Given the description of an element on the screen output the (x, y) to click on. 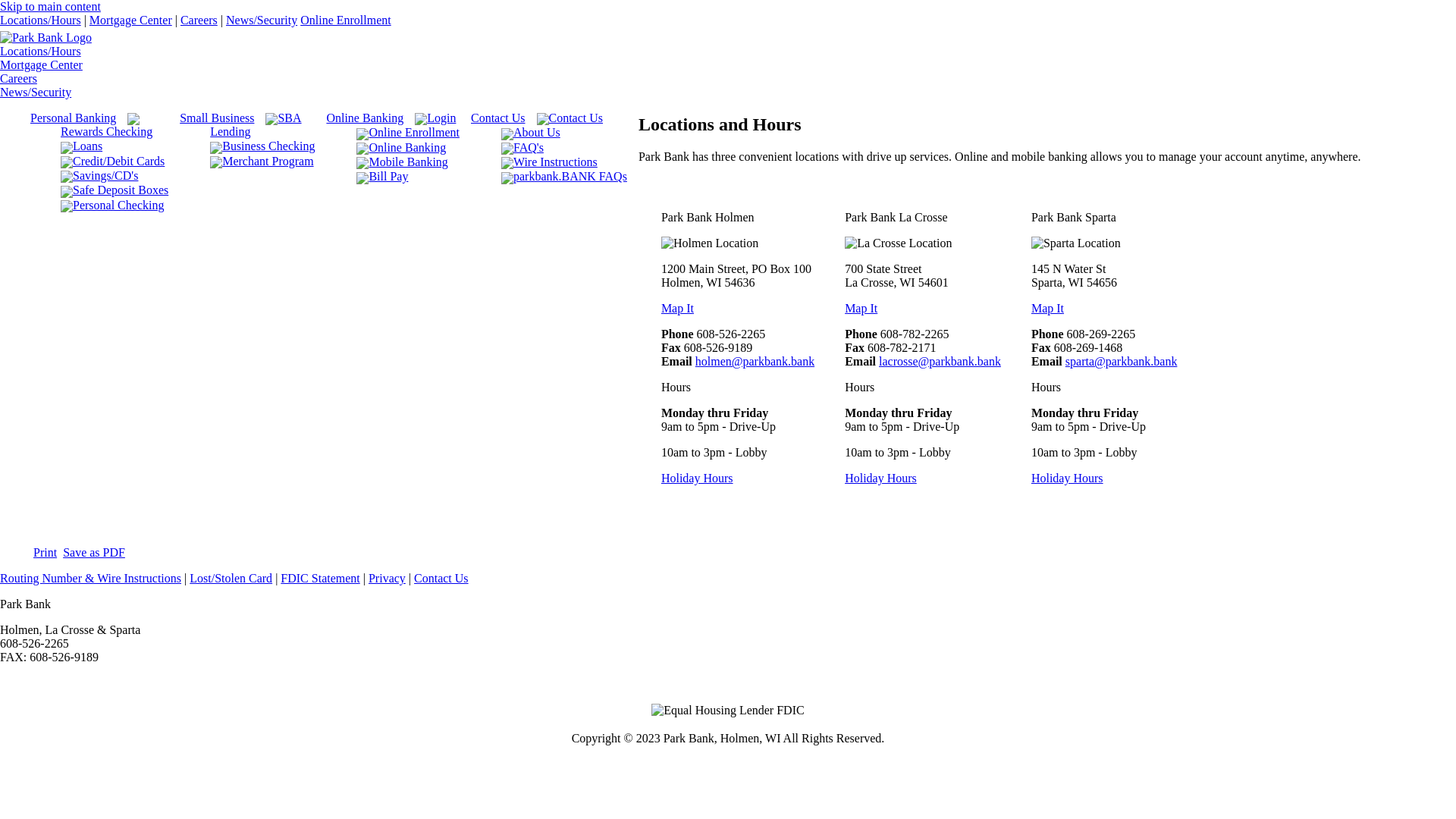
Credit/Debit Cards Element type: text (119, 161)
Personal Banking Element type: text (78, 117)
Locations/Hours Element type: text (40, 19)
Mortgage Center Element type: text (130, 19)
Merchant Program Element type: text (267, 161)
SBA Lending Element type: text (267, 124)
parkbank.BANK FAQs Element type: text (569, 176)
Save as PDF Element type: text (93, 552)
lacrosse@parkbank.bank Element type: text (939, 360)
Holiday Hours Element type: text (880, 477)
Careers Element type: text (198, 19)
Contact Us Element type: text (569, 117)
Skip to main content Element type: text (50, 6)
Online Banking Element type: text (413, 147)
sparta@parkbank.bank Element type: text (1121, 360)
FAQ's Element type: text (569, 147)
questions@parkbank.bank Element type: text (64, 670)
Routing Number & Wire Instructions Element type: text (90, 577)
Map It Element type: text (677, 307)
About Us Element type: text (569, 132)
Locations/Hours Element type: text (40, 50)
Safe Deposit Boxes Element type: text (119, 189)
News/Security Element type: text (261, 19)
Online Banking Element type: text (370, 117)
Map It Element type: text (1047, 307)
Online Enrollment Element type: text (345, 19)
Bill Pay Element type: text (413, 176)
Privacy Element type: text (386, 577)
Small Business Element type: text (222, 117)
Contact Us Element type: text (503, 117)
Personal Checking Element type: text (119, 205)
Savings/CD's Element type: text (119, 175)
News/Security Element type: text (35, 91)
Online Enrollment Element type: text (413, 132)
Mobile Banking Element type: text (413, 161)
Login Element type: text (413, 117)
Loans Element type: text (119, 145)
Lost/Stolen Card Element type: text (230, 577)
Wire Instructions Element type: text (569, 161)
holmen@parkbank.bank Element type: text (754, 360)
Mortgage Center Element type: text (41, 64)
Business Checking Element type: text (267, 145)
Careers Element type: text (18, 78)
Rewards Checking Element type: text (119, 124)
Contact Us Element type: text (441, 577)
Print Element type: text (44, 552)
Holiday Hours Element type: text (1067, 477)
Map It Element type: text (860, 307)
Holiday Hours Element type: text (697, 477)
FDIC Statement Element type: text (319, 577)
